Given the description of an element on the screen output the (x, y) to click on. 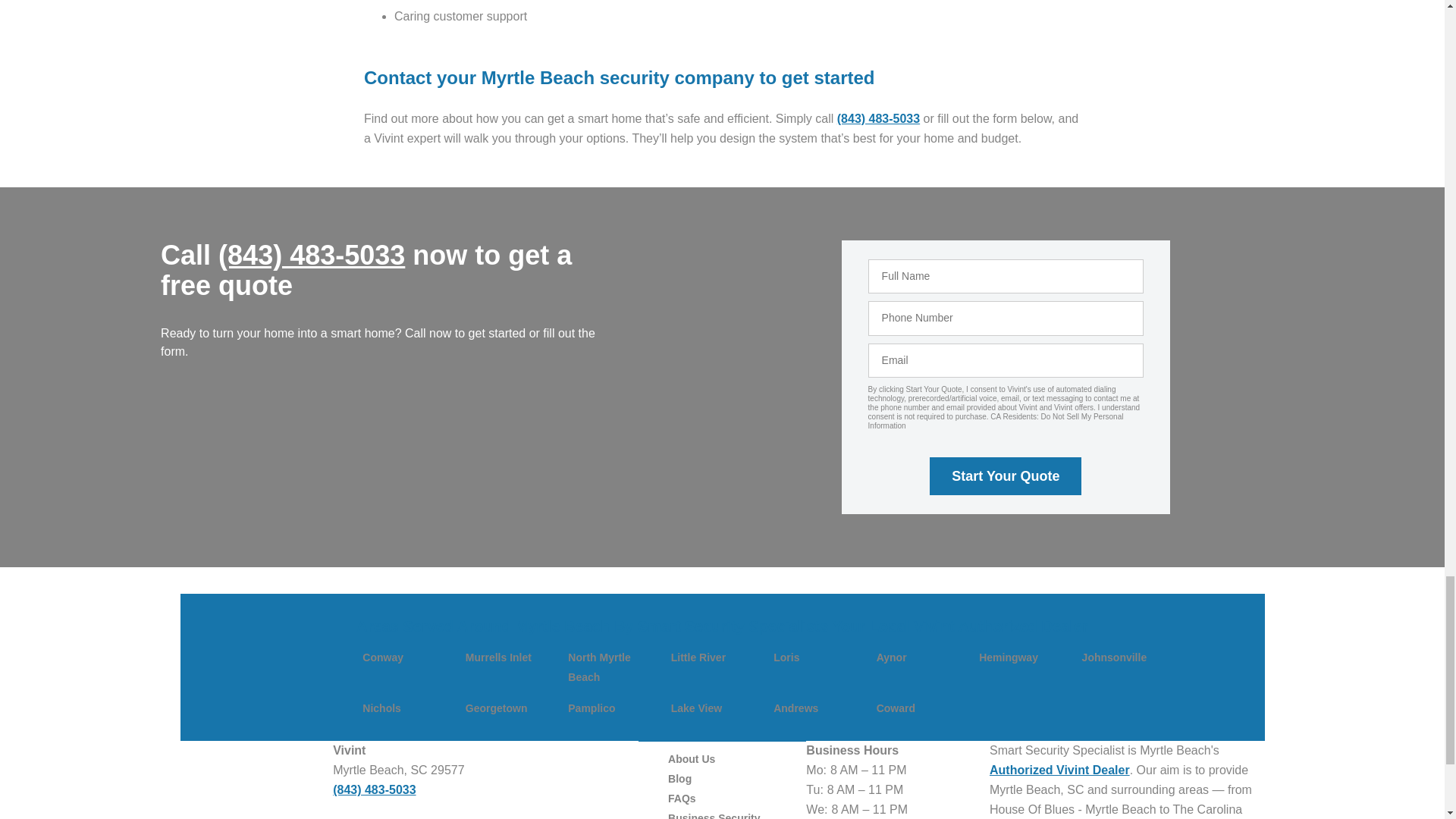
Start Your Quote (1005, 476)
Start Your Quote (1005, 476)
